Given the description of an element on the screen output the (x, y) to click on. 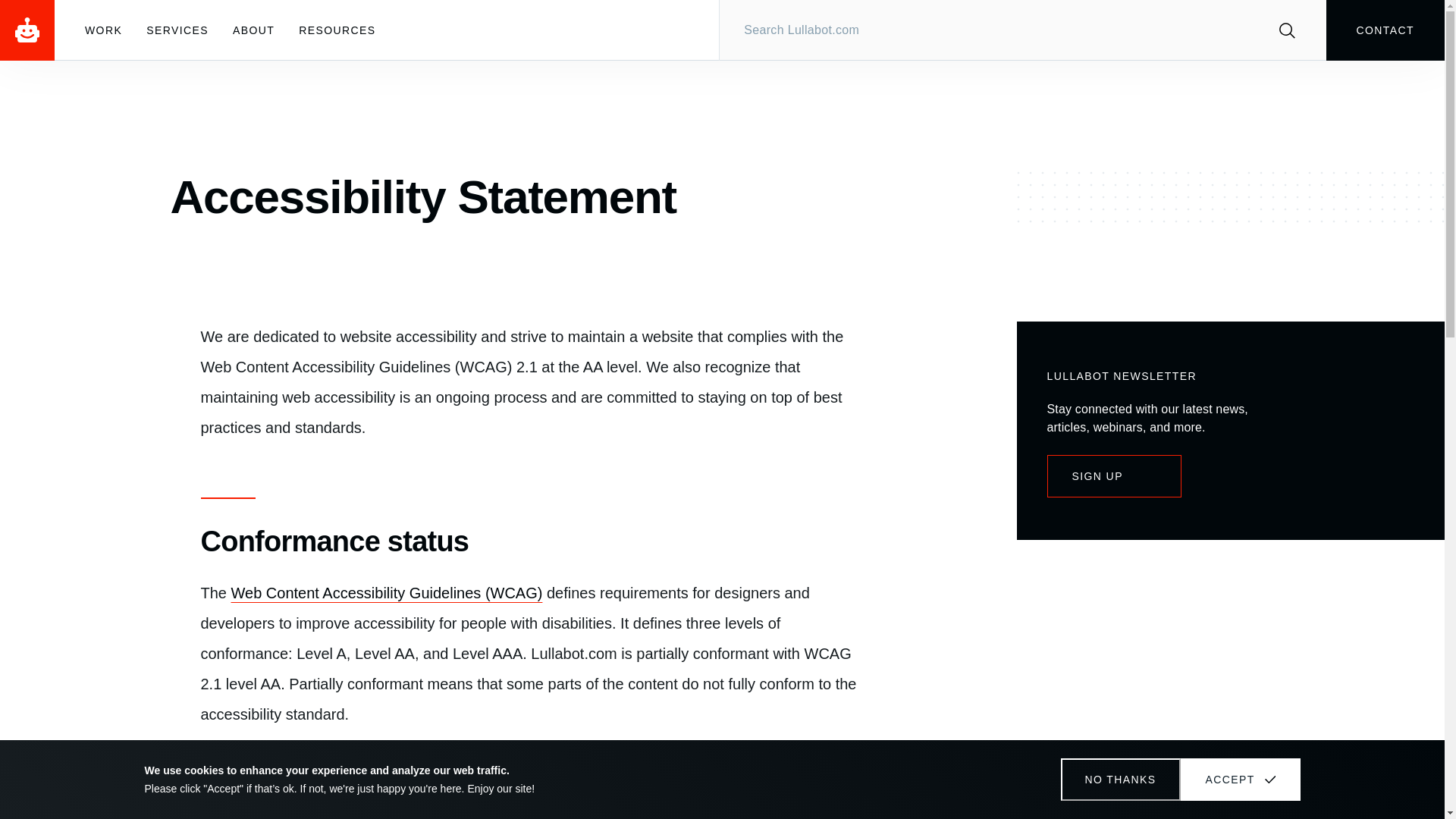
Search (1286, 30)
RESOURCES (336, 30)
SERVICES (177, 30)
Enter the terms you wish to search for. (1021, 29)
NO THANKS (1119, 779)
Search (1286, 30)
ABOUT (253, 30)
ACCEPT (1239, 779)
SIGN UP (1113, 476)
WORK (102, 30)
